Given the description of an element on the screen output the (x, y) to click on. 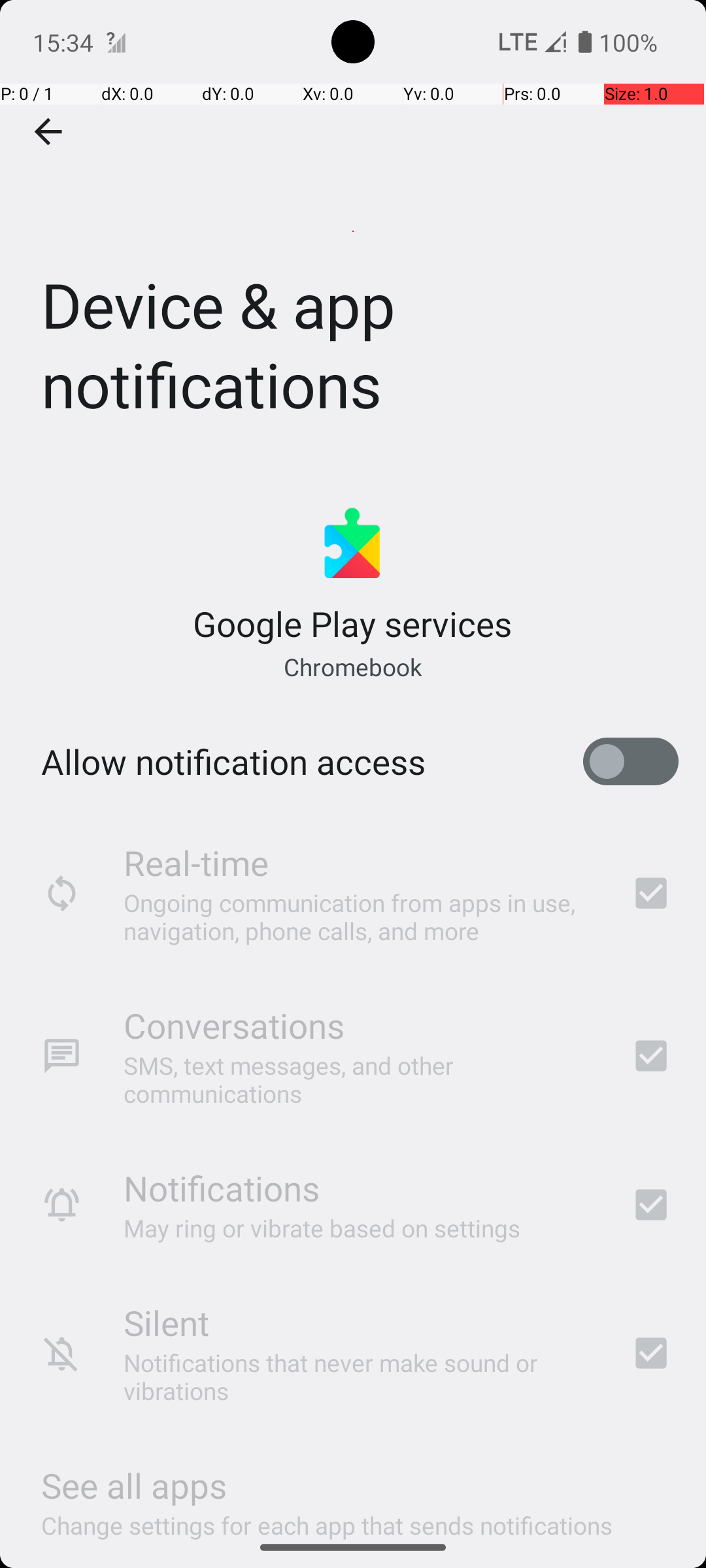
Google Play services Element type: android.widget.TextView (352, 623)
Chromebook Element type: android.widget.TextView (352, 666)
Allow notification access Element type: android.widget.TextView (233, 761)
Real-time Element type: android.widget.TextView (195, 862)
Ongoing communication from apps in use, navigation, phone calls, and more Element type: android.widget.TextView (359, 916)
SMS, text messages, and other communications Element type: android.widget.TextView (359, 1079)
May ring or vibrate based on settings Element type: android.widget.TextView (322, 1227)
Silent Element type: android.widget.TextView (166, 1322)
Notifications that never make sound or vibrations Element type: android.widget.TextView (359, 1376)
See all apps Element type: android.widget.TextView (133, 1485)
Change settings for each app that sends notifications Element type: android.widget.TextView (326, 1517)
